Given the description of an element on the screen output the (x, y) to click on. 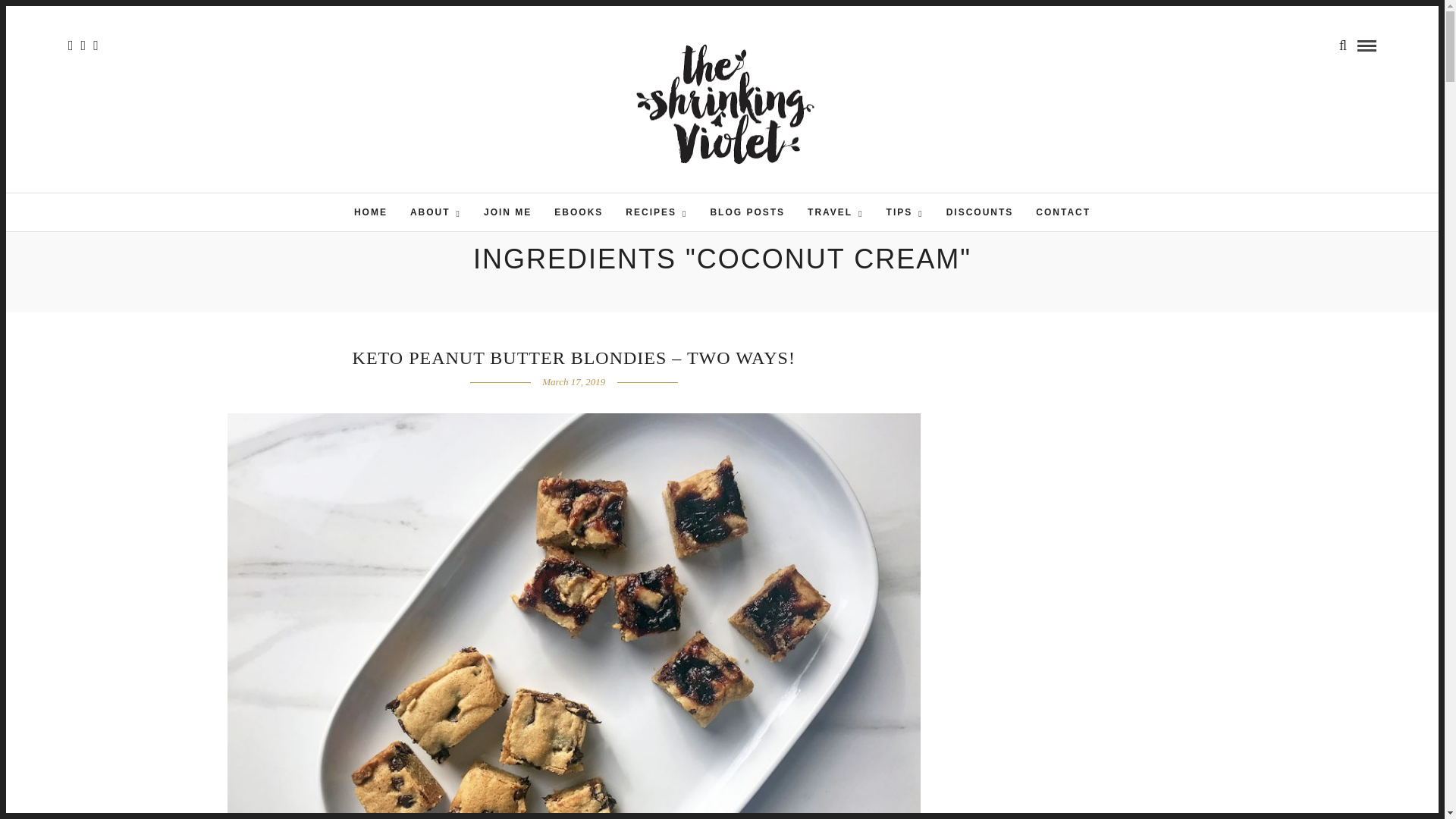
RECIPES (656, 211)
ABOUT (434, 211)
HOME (370, 211)
EBOOKS (578, 211)
JOIN ME (507, 211)
